Given the description of an element on the screen output the (x, y) to click on. 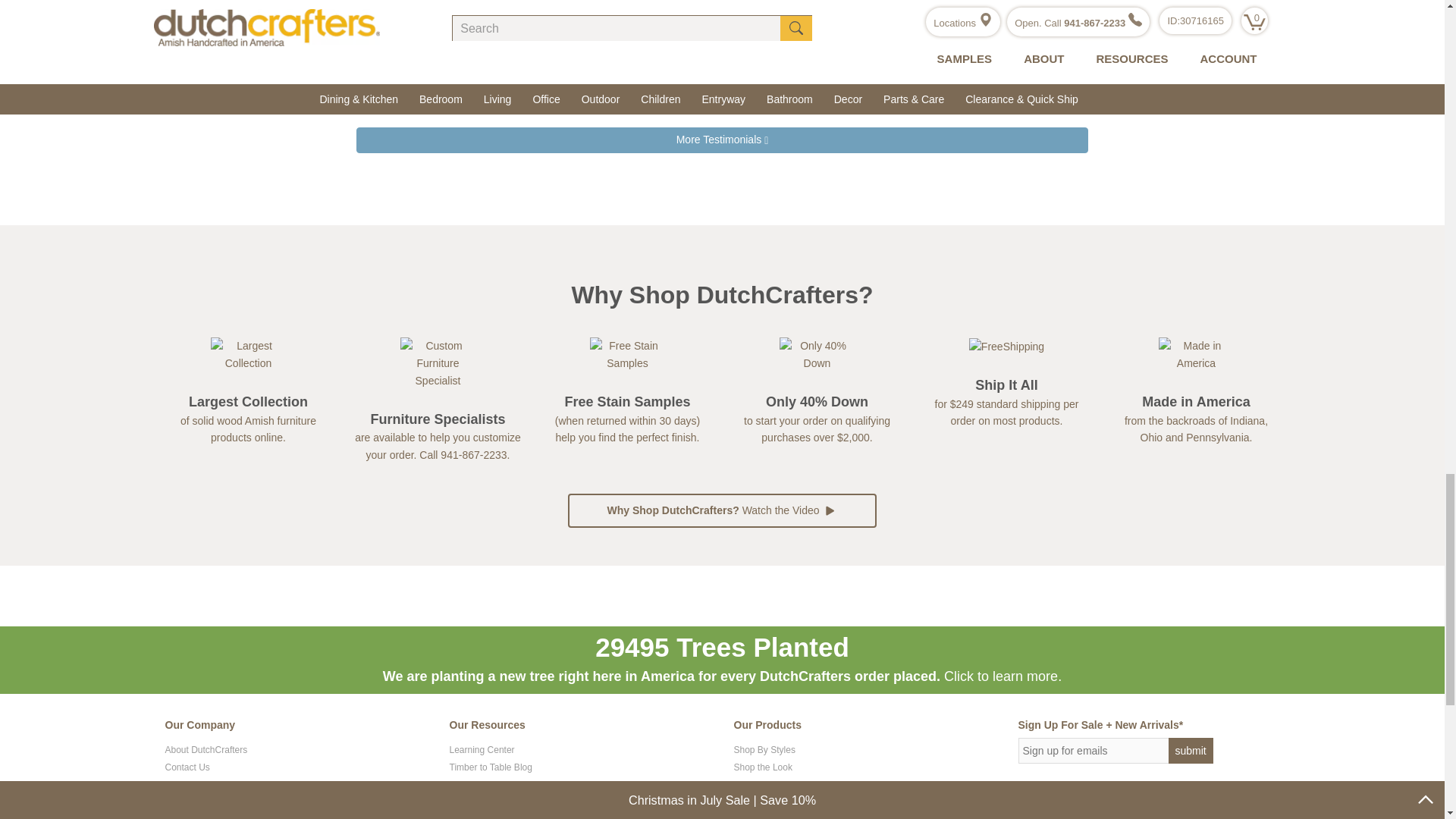
submit (1189, 750)
